Given the description of an element on the screen output the (x, y) to click on. 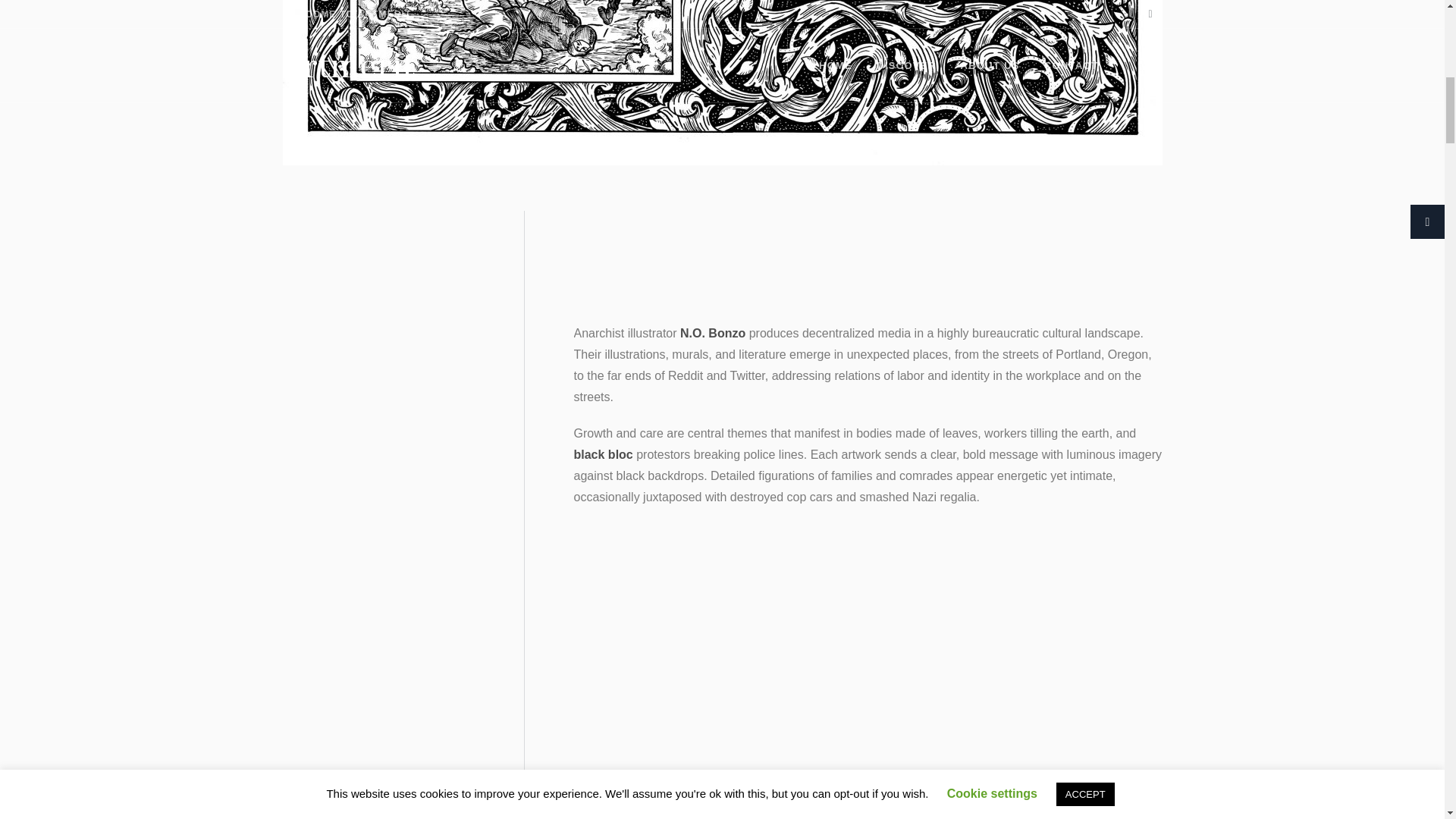
black bloc (602, 454)
N.O. Bonzo (712, 332)
